Given the description of an element on the screen output the (x, y) to click on. 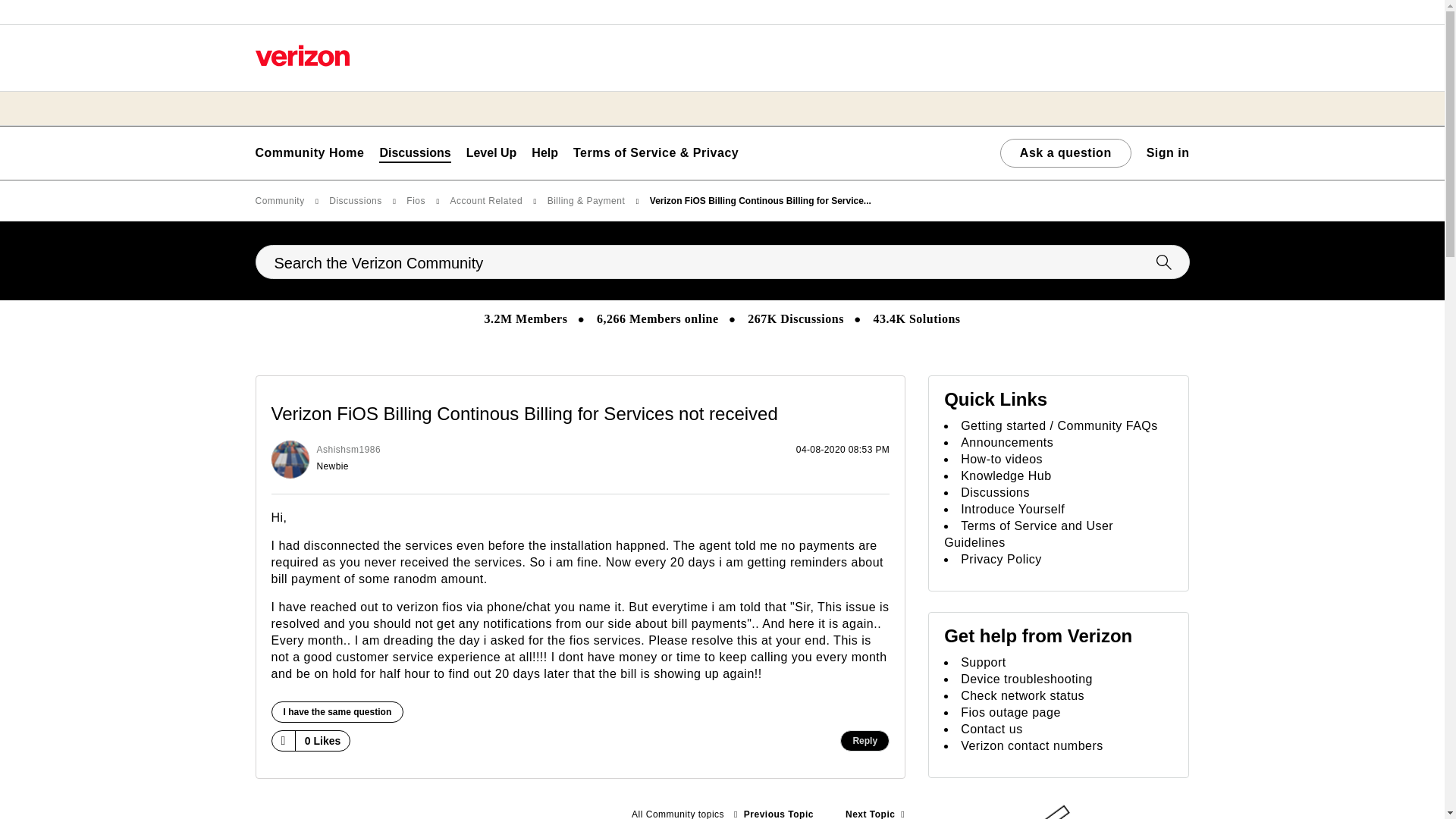
Click here to give likes to this post. (282, 740)
Where to claim Visa prepaid gift card? (874, 810)
Search (721, 261)
Ashishsm1986 (289, 459)
Verizon Home Page (301, 55)
Can not verify FIOS account on Verizon Up app (773, 810)
The total number of likes this post has received. (322, 741)
Posted on (668, 459)
Click here if you had a similar experience (337, 711)
